Given the description of an element on the screen output the (x, y) to click on. 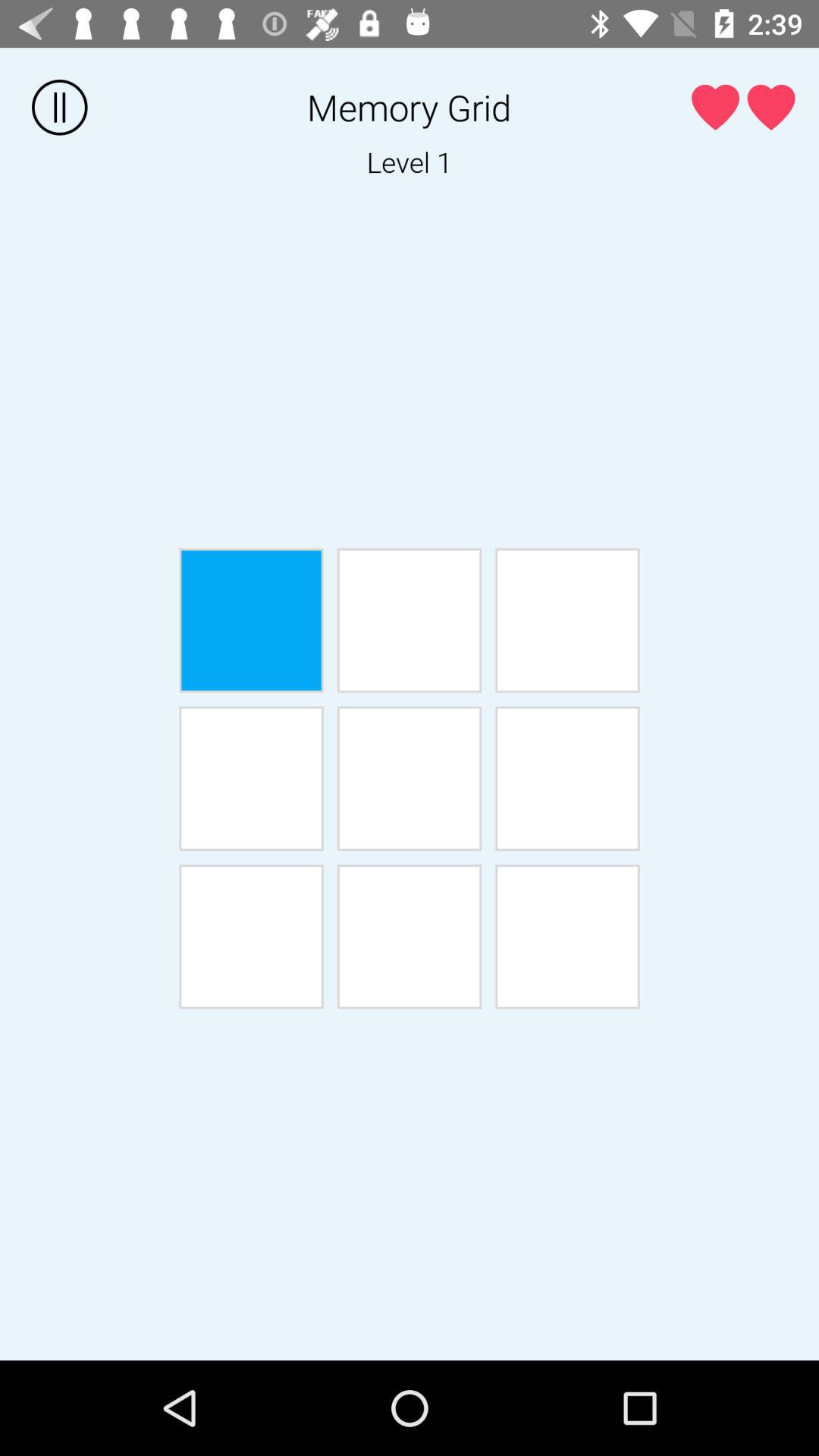
shows level 5 button (409, 778)
